Given the description of an element on the screen output the (x, y) to click on. 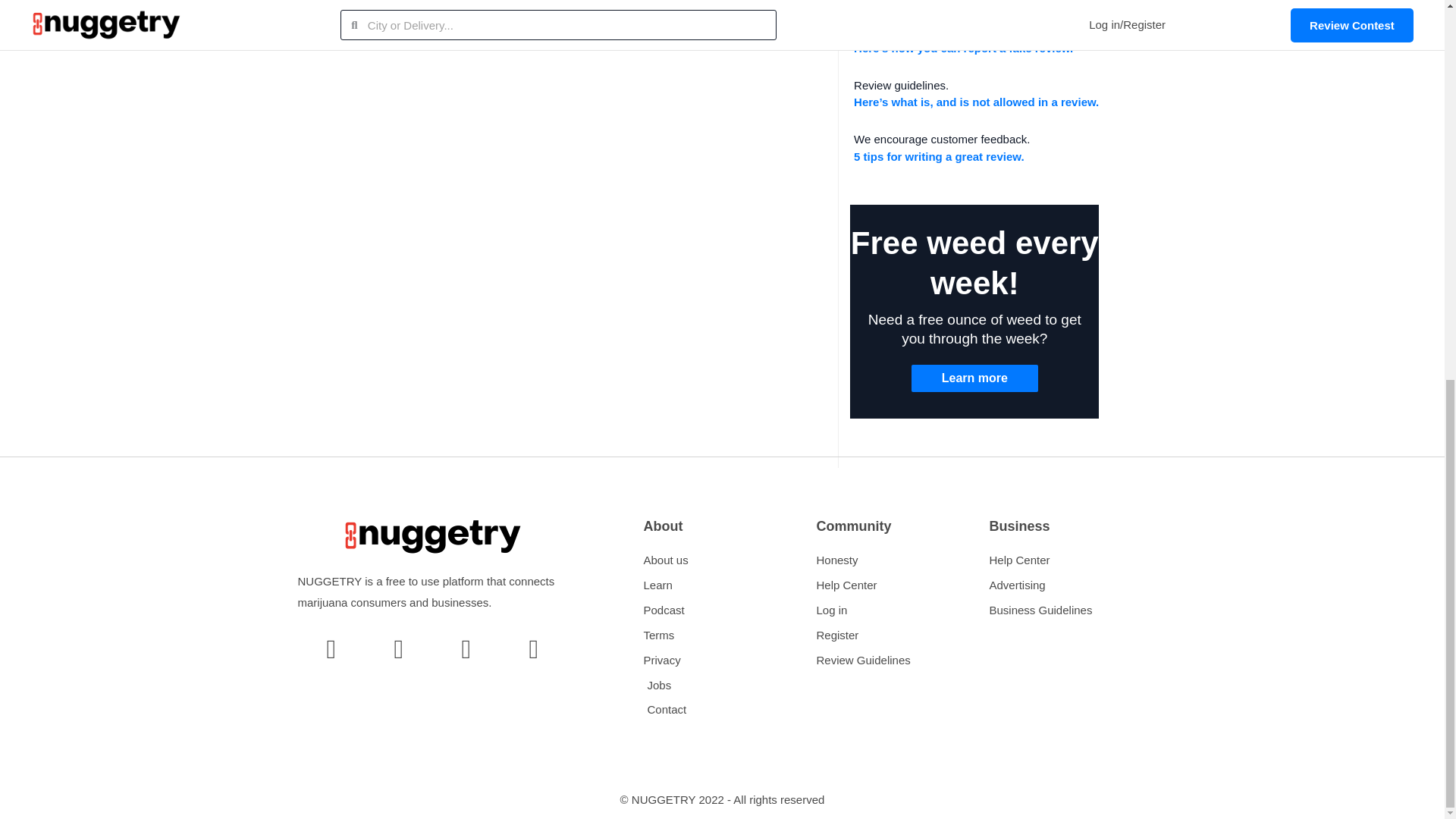
Learn more (974, 378)
5 tips for writing a great review. (939, 155)
